Given the description of an element on the screen output the (x, y) to click on. 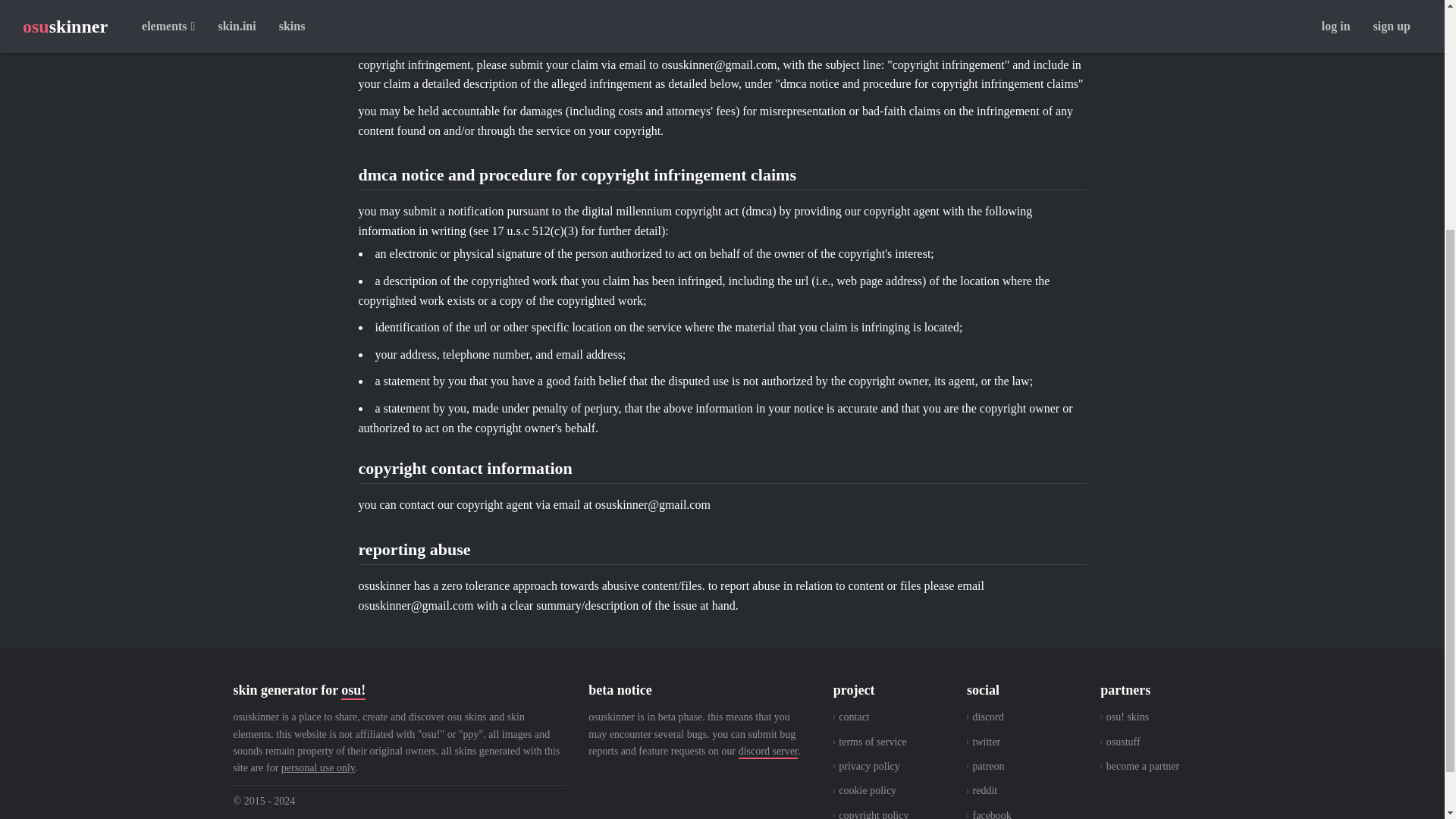
osu! (352, 690)
contact (850, 716)
cookie policy (864, 790)
become a partner (1139, 766)
osustuff (1120, 741)
twitter (983, 741)
All rights reserved. (399, 801)
osu! skins (1124, 716)
discord (985, 716)
privacy policy (865, 766)
